Given the description of an element on the screen output the (x, y) to click on. 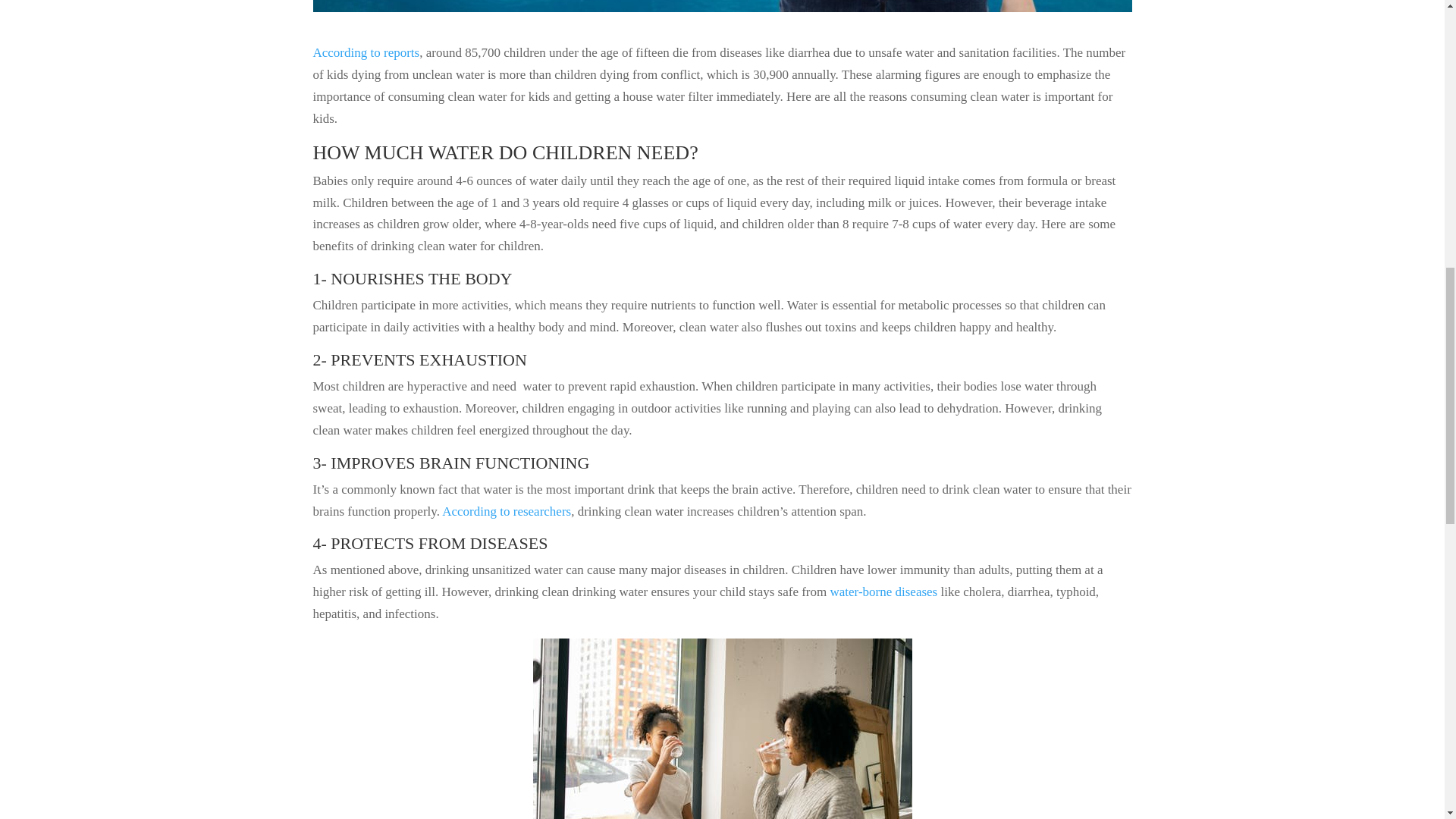
According to researchers (506, 511)
According to reports (366, 52)
